Given the description of an element on the screen output the (x, y) to click on. 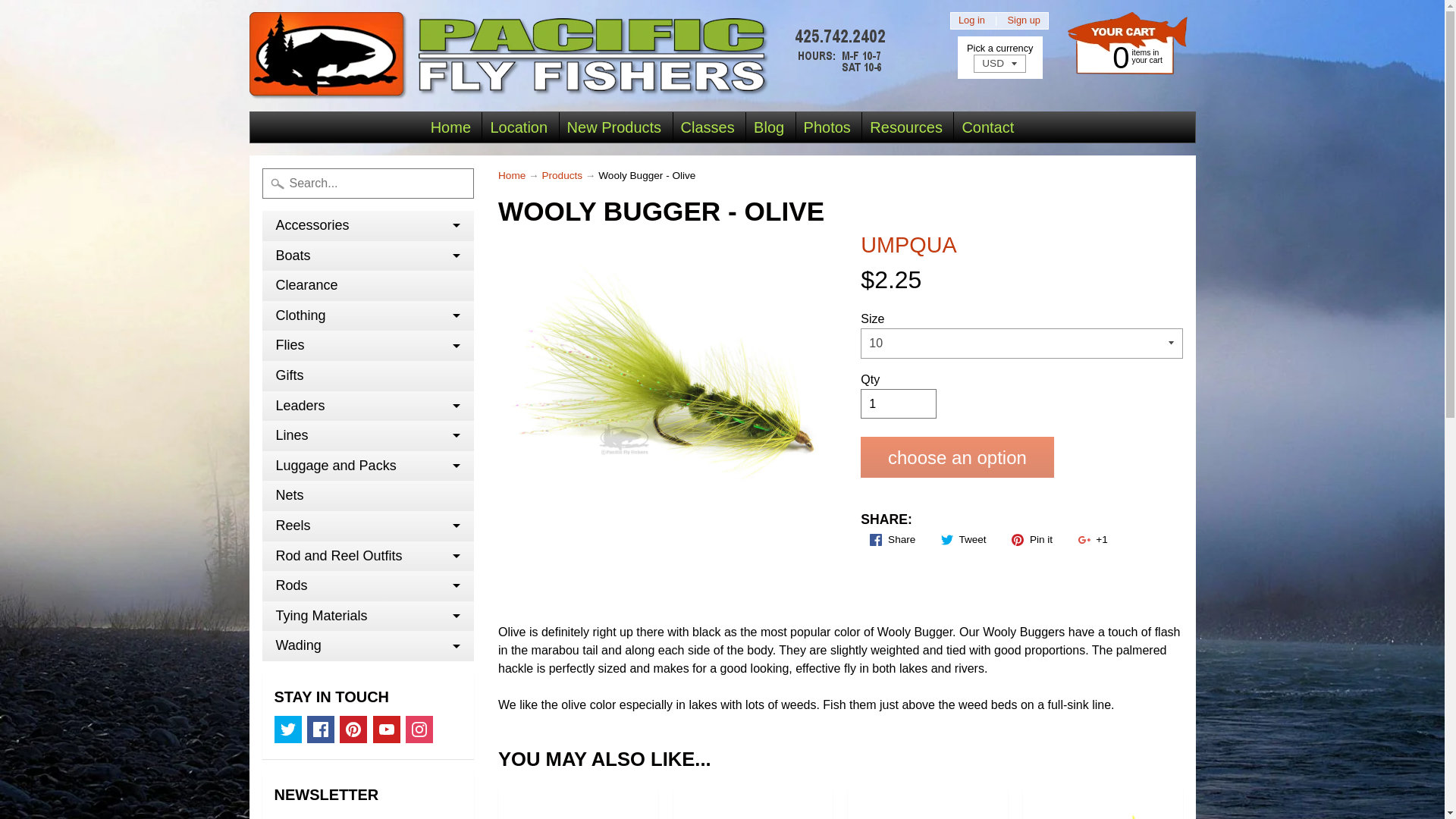
Pacific Fly Fishers (570, 55)
Classes (707, 127)
Share on Facebook (892, 539)
Resources (905, 127)
Accessories (368, 225)
Photos (827, 127)
Sign up (1024, 20)
Contact (987, 127)
Home (451, 127)
Youtube (386, 728)
Tweet on Twitter (963, 539)
Twitter (288, 728)
New Products (614, 127)
Pinterest (352, 728)
